Given the description of an element on the screen output the (x, y) to click on. 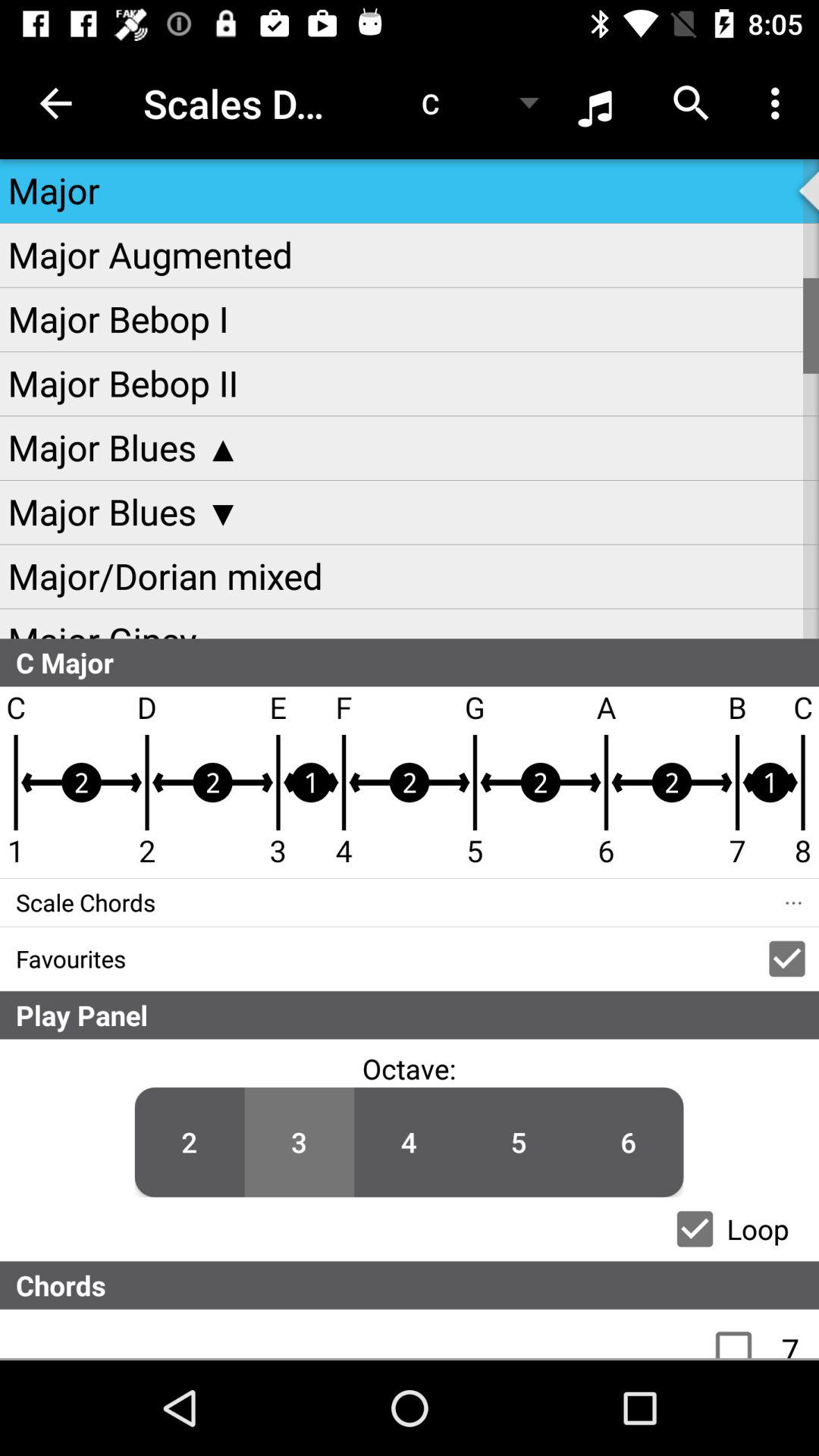
menu (741, 1333)
